Given the description of an element on the screen output the (x, y) to click on. 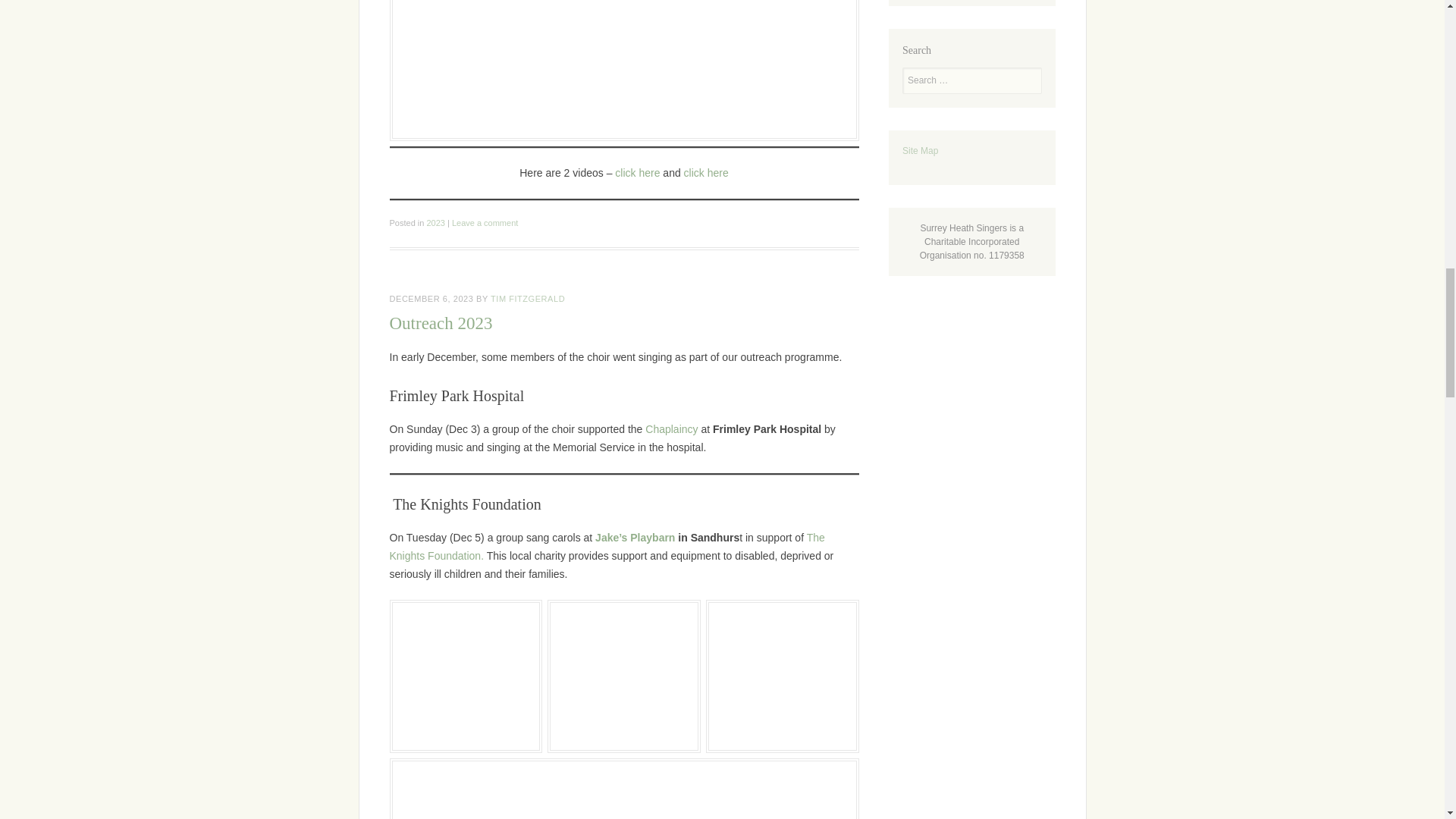
The Knights Foundation. (607, 546)
click here (706, 173)
click here (636, 173)
TIM FITZGERALD (527, 298)
Outreach 2023 (441, 322)
Chaplaincy (671, 428)
View all posts by Tim FitzGerald (527, 298)
16:44 (432, 298)
2023 (435, 222)
Leave a comment (484, 222)
DECEMBER 6, 2023 (432, 298)
